Given the description of an element on the screen output the (x, y) to click on. 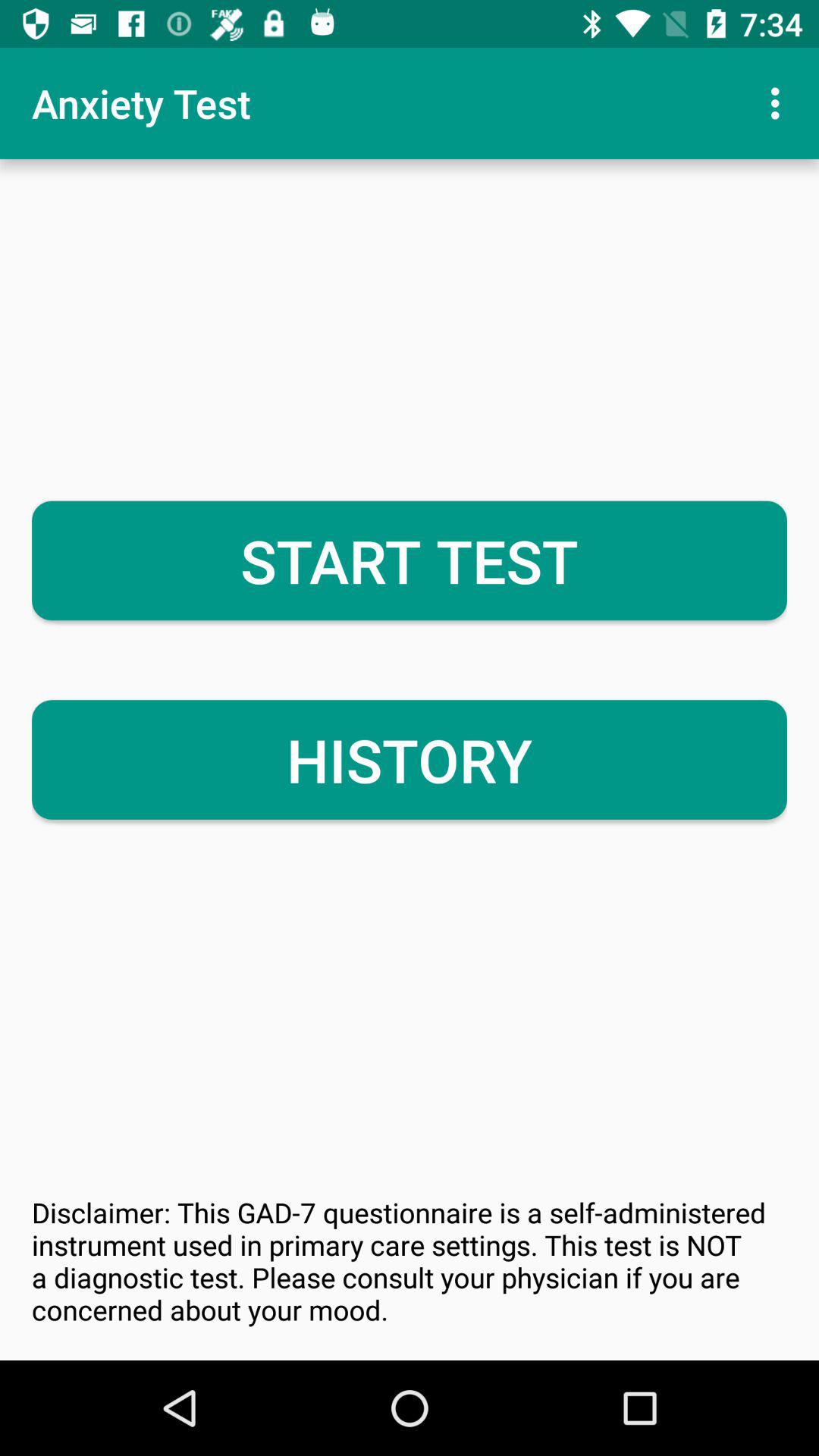
select icon above start test item (779, 103)
